Given the description of an element on the screen output the (x, y) to click on. 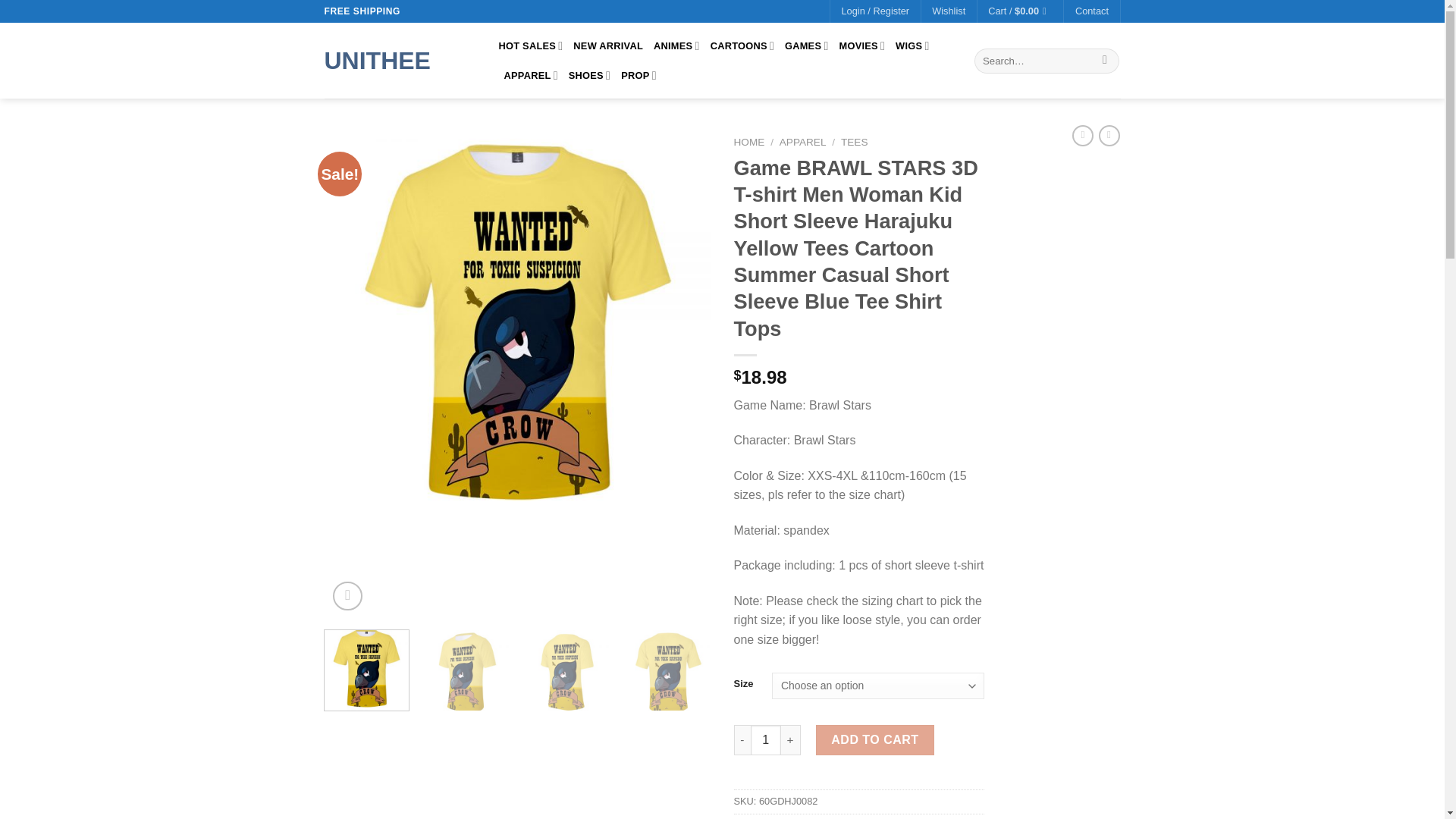
UNITHEE (400, 60)
CARTOONS (742, 45)
ANIMES (676, 45)
Cart (1020, 11)
Contact (1091, 11)
Wishlist (948, 11)
UNITHEE (400, 60)
1 (765, 739)
GAMES (806, 45)
WIGS (911, 45)
HOT SALES (531, 45)
MOVIES (861, 45)
Qty (765, 739)
NEW ARRIVAL (608, 45)
Zoom (347, 595)
